Given the description of an element on the screen output the (x, y) to click on. 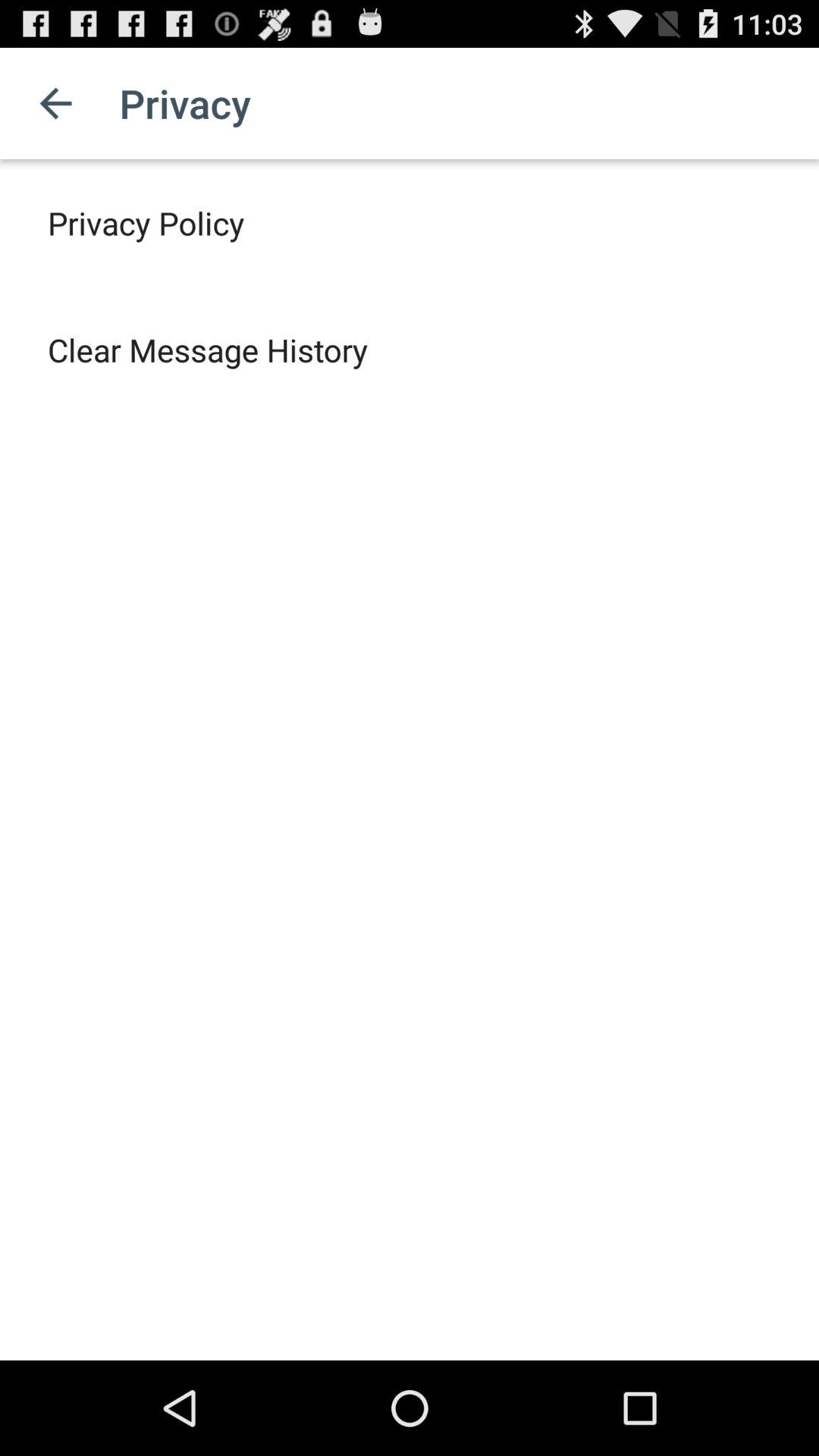
press app above the privacy policy (55, 103)
